Given the description of an element on the screen output the (x, y) to click on. 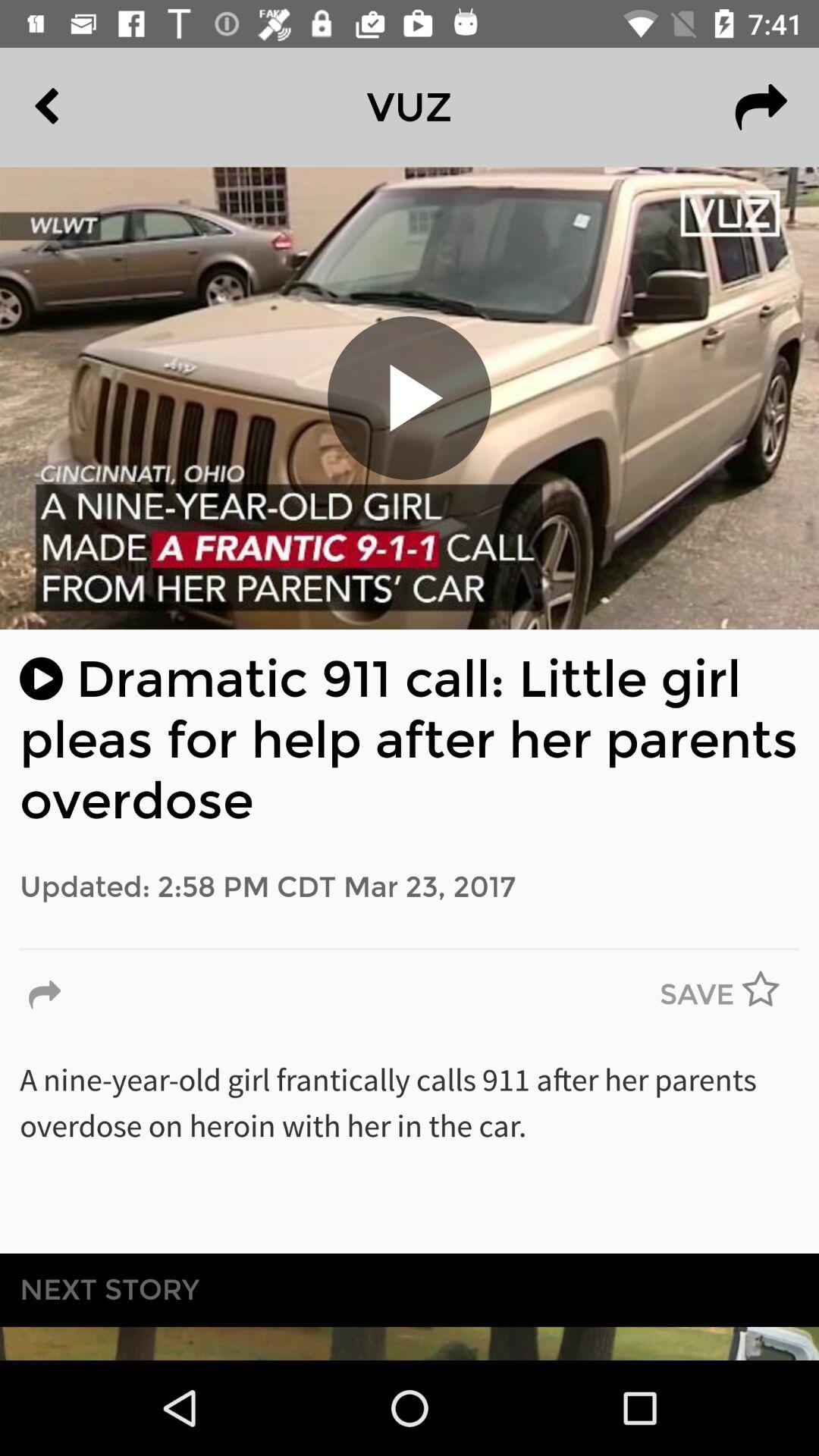
press the save (696, 995)
